Given the description of an element on the screen output the (x, y) to click on. 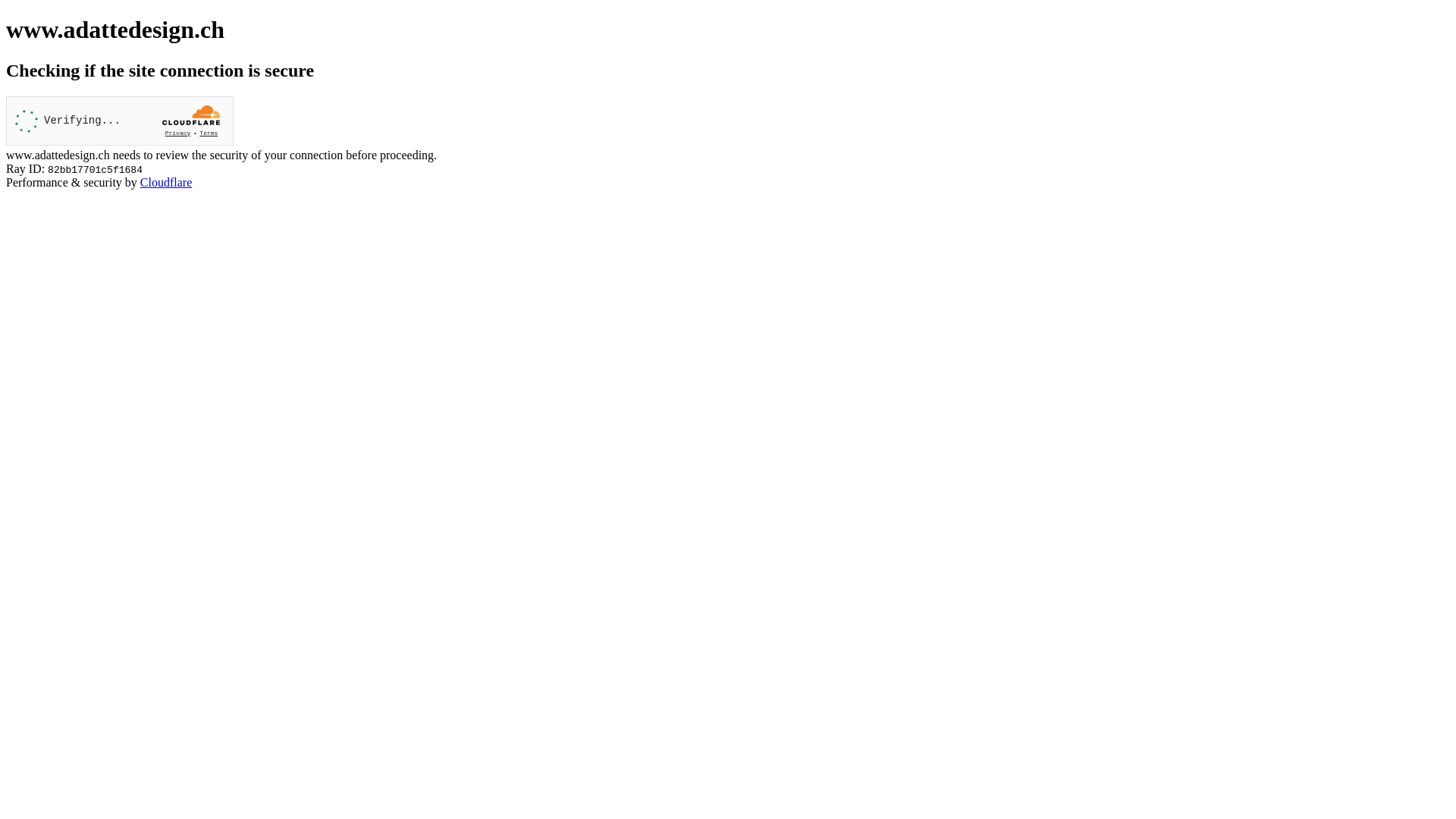
Cloudflare Element type: text (165, 181)
Widget containing a Cloudflare security challenge Element type: hover (119, 120)
